Given the description of an element on the screen output the (x, y) to click on. 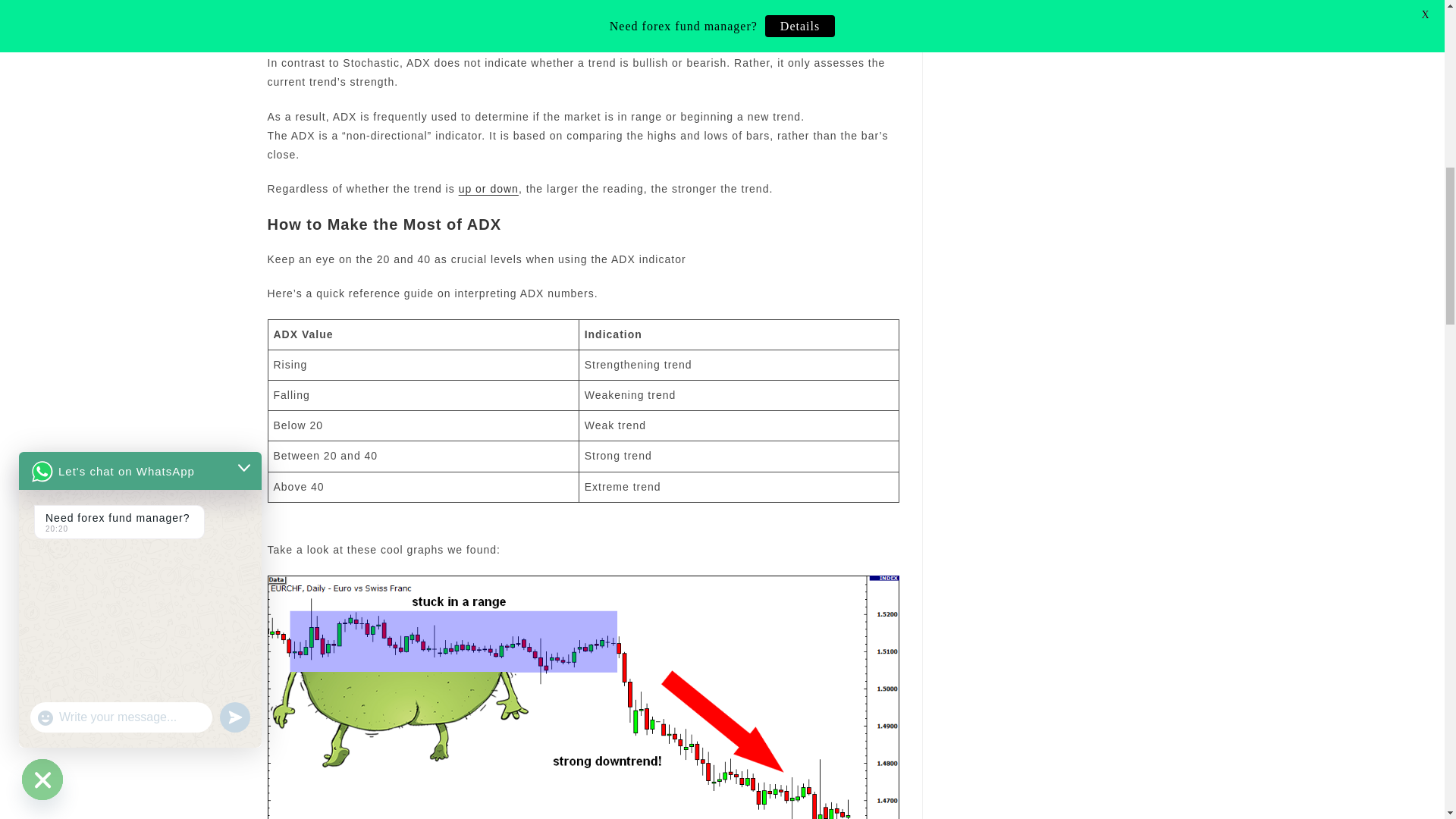
up or down (488, 188)
